Given the description of an element on the screen output the (x, y) to click on. 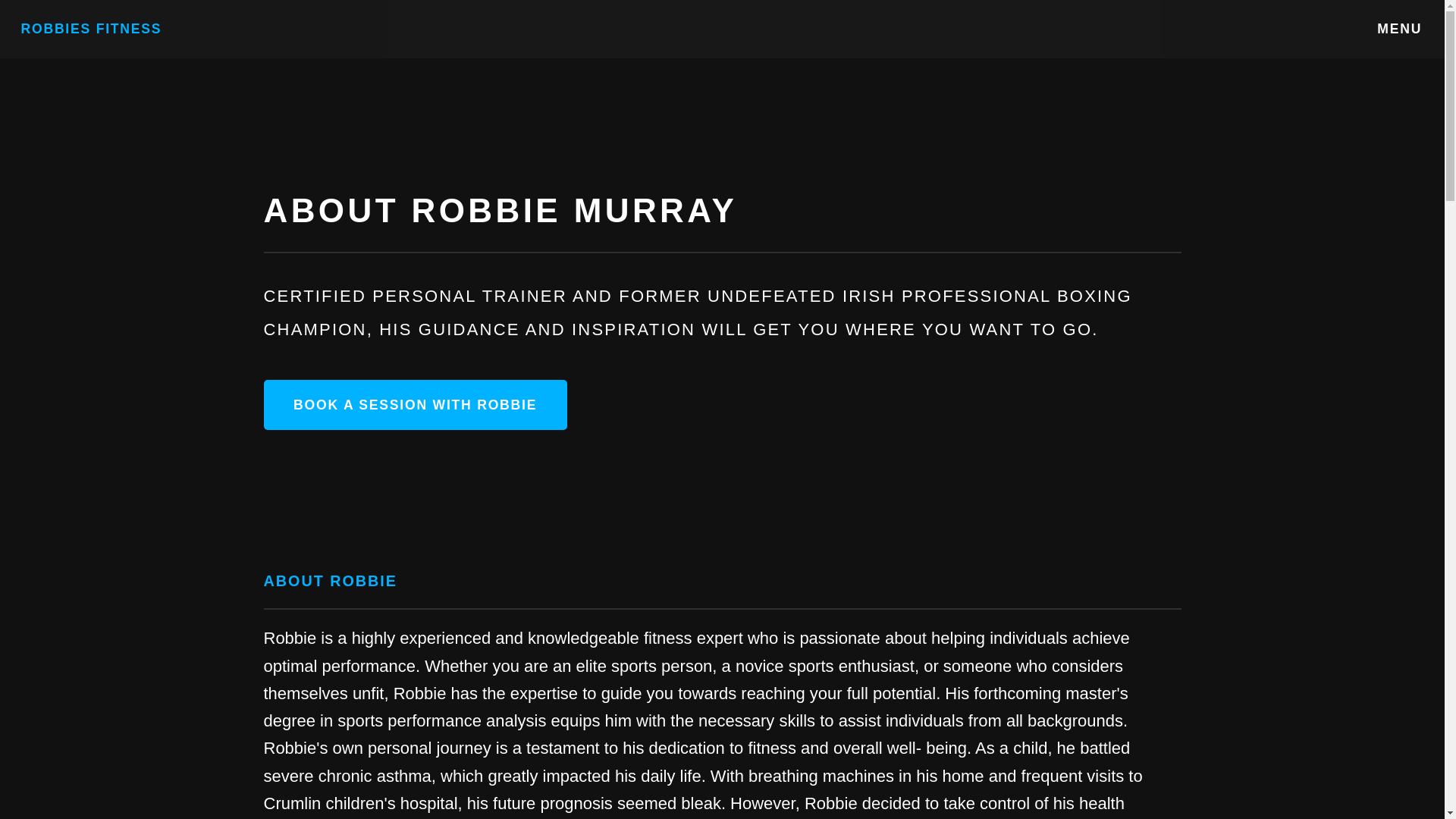
ROBBIES FITNESS (91, 28)
MENU (1399, 29)
BOOK A SESSION WITH ROBBIE (415, 404)
